Given the description of an element on the screen output the (x, y) to click on. 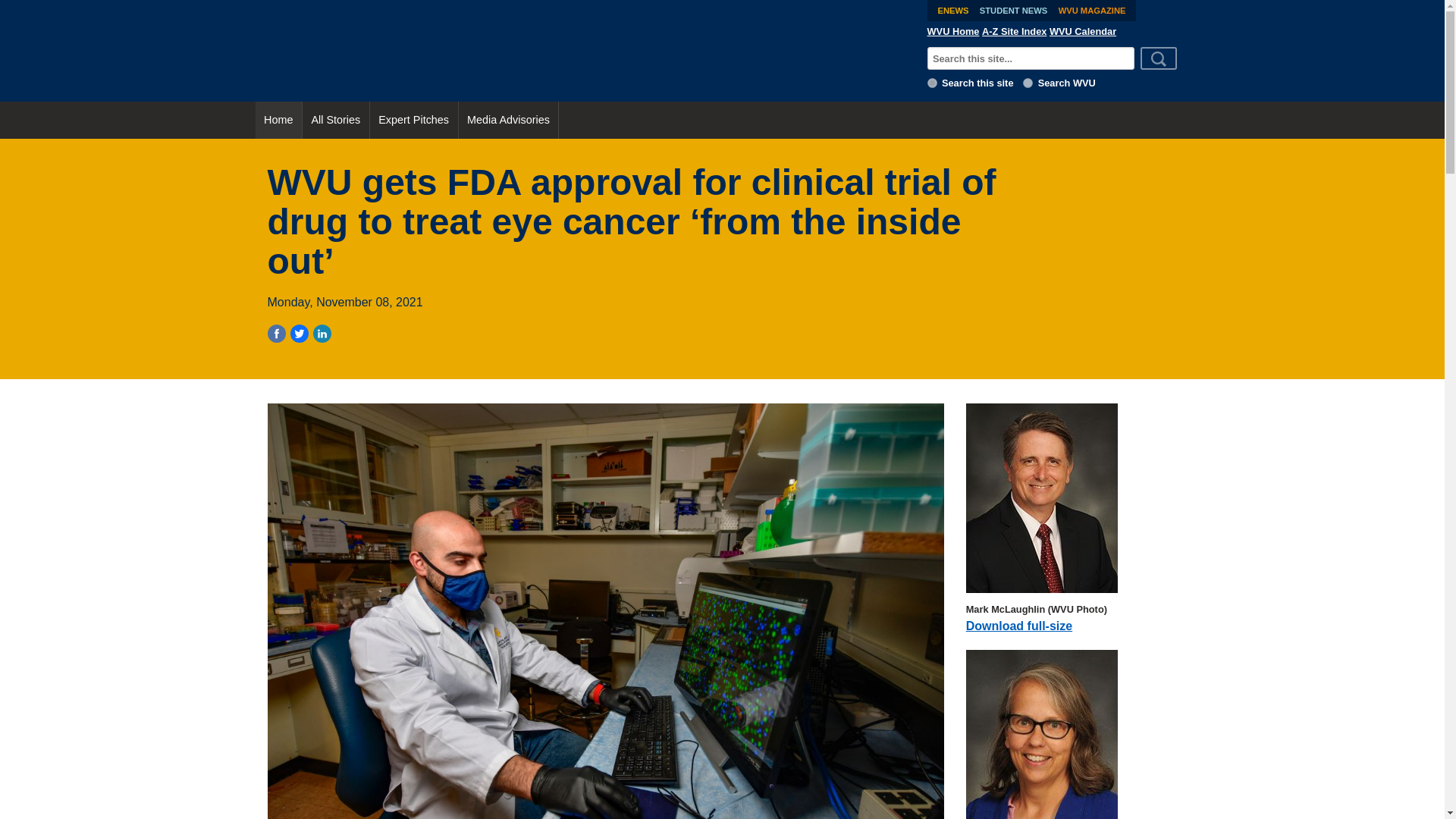
WVU Today (585, 50)
WVU Home (953, 31)
Search (1158, 57)
WVU MAGAZINE (1091, 10)
Search (1158, 57)
A-Z Site Index (1013, 31)
Expert Pitches (413, 119)
Home (277, 119)
wvutoday.wvu.edu (932, 82)
wvu.edu (1027, 82)
